Given the description of an element on the screen output the (x, y) to click on. 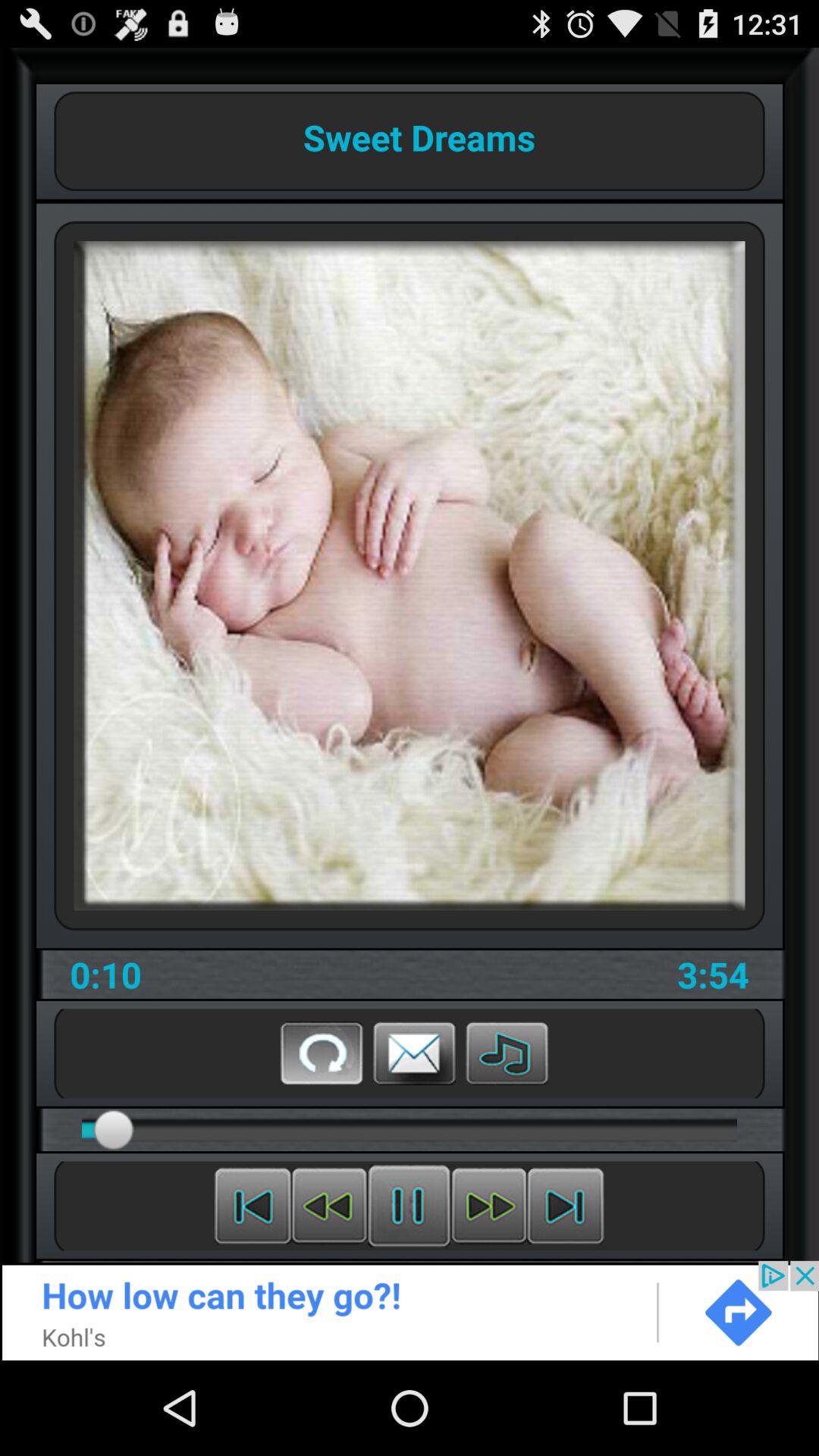
music settings (506, 1053)
